Given the description of an element on the screen output the (x, y) to click on. 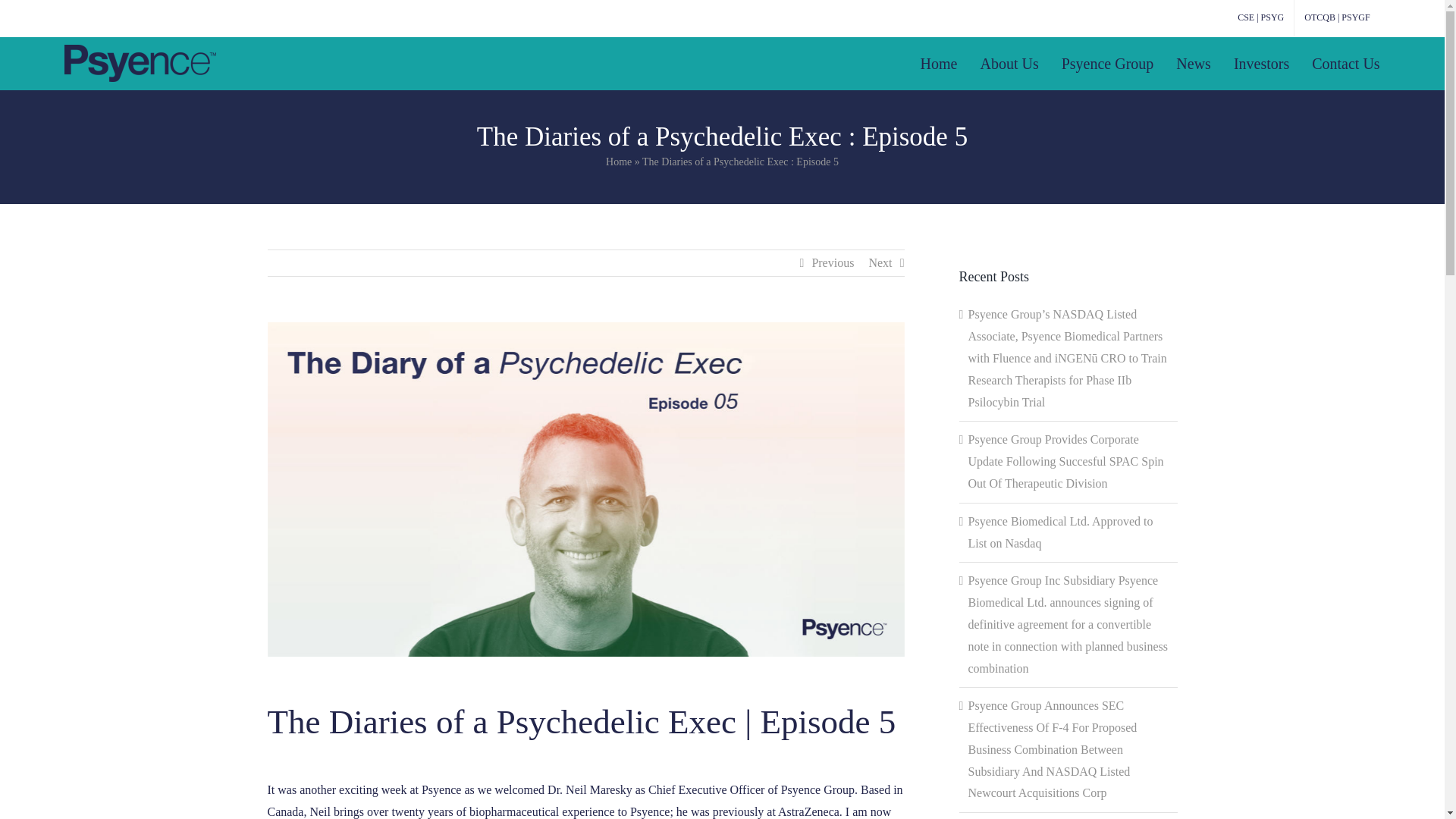
Investors (1260, 62)
About Us (1008, 62)
Psyence Group (1107, 62)
About Psilocibyn (1008, 62)
Contact Us (1344, 62)
